Given the description of an element on the screen output the (x, y) to click on. 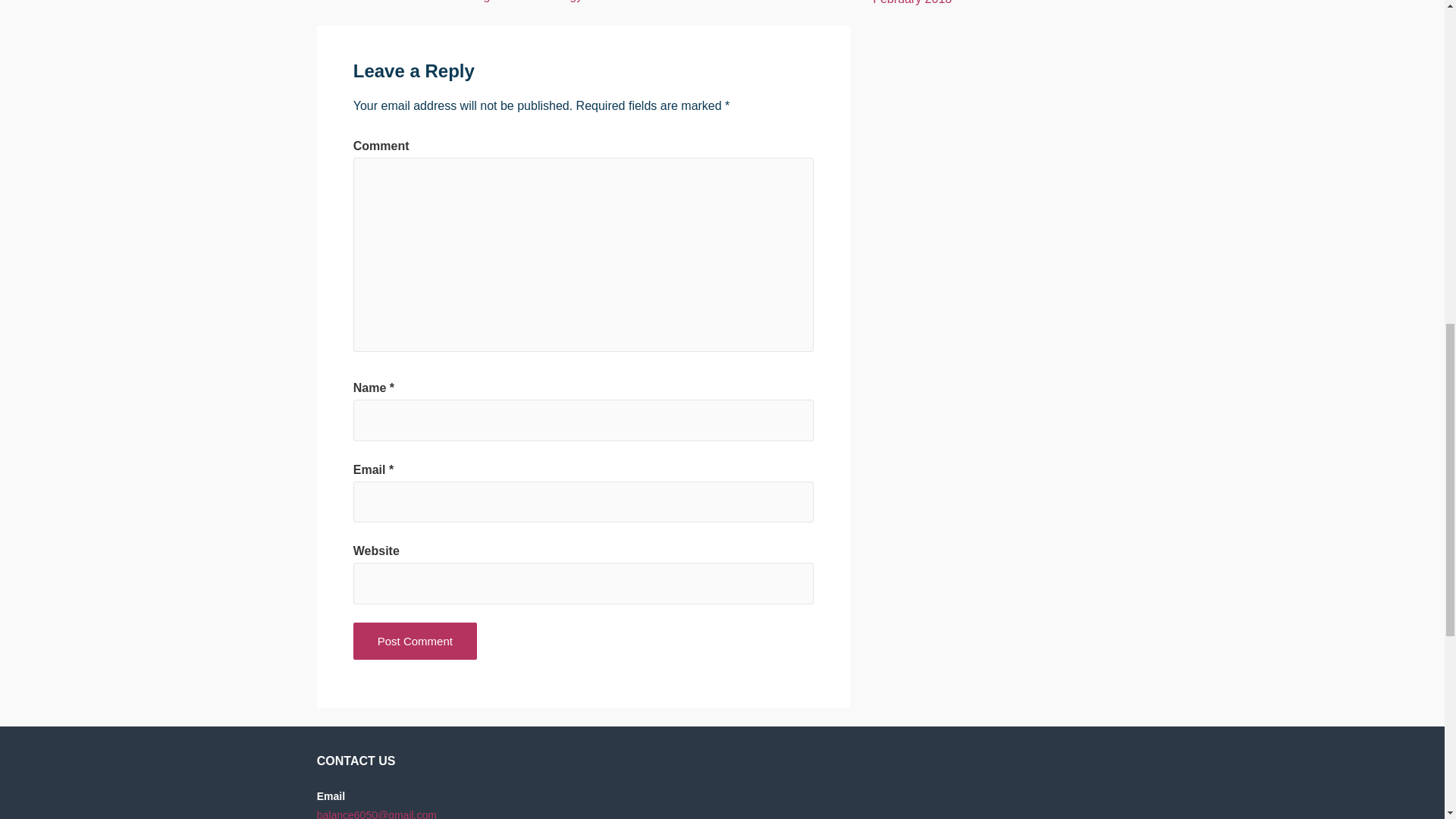
Post Comment (415, 641)
February 2018 (912, 2)
Post Comment (415, 641)
